Given the description of an element on the screen output the (x, y) to click on. 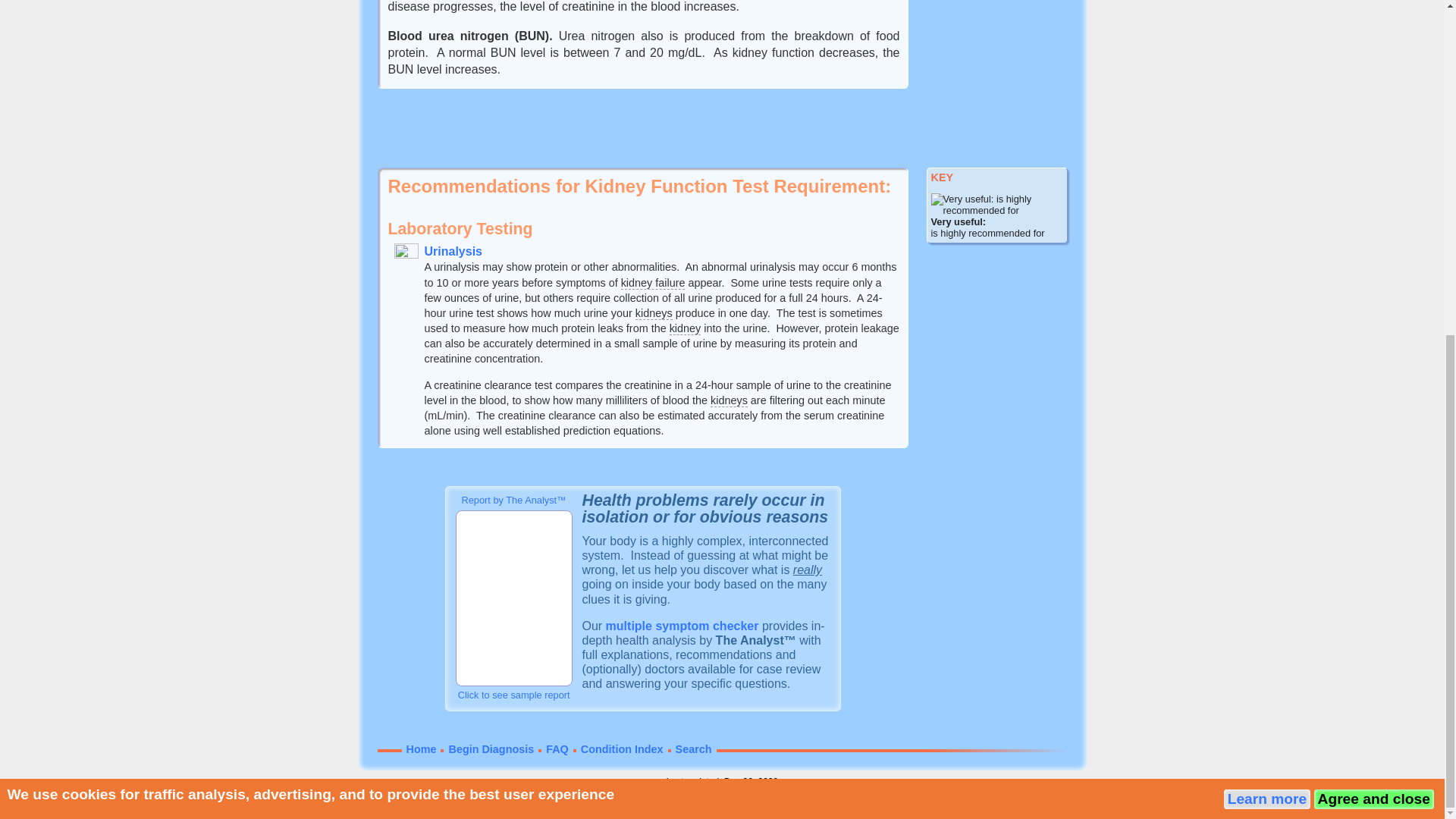
Search (693, 748)
Home (421, 748)
kidneys (653, 313)
kidney (685, 328)
FAQ (557, 748)
kidneys (729, 400)
Learn more (1267, 236)
multiple symptom checker (681, 625)
Begin Diagnosis (491, 748)
